Given the description of an element on the screen output the (x, y) to click on. 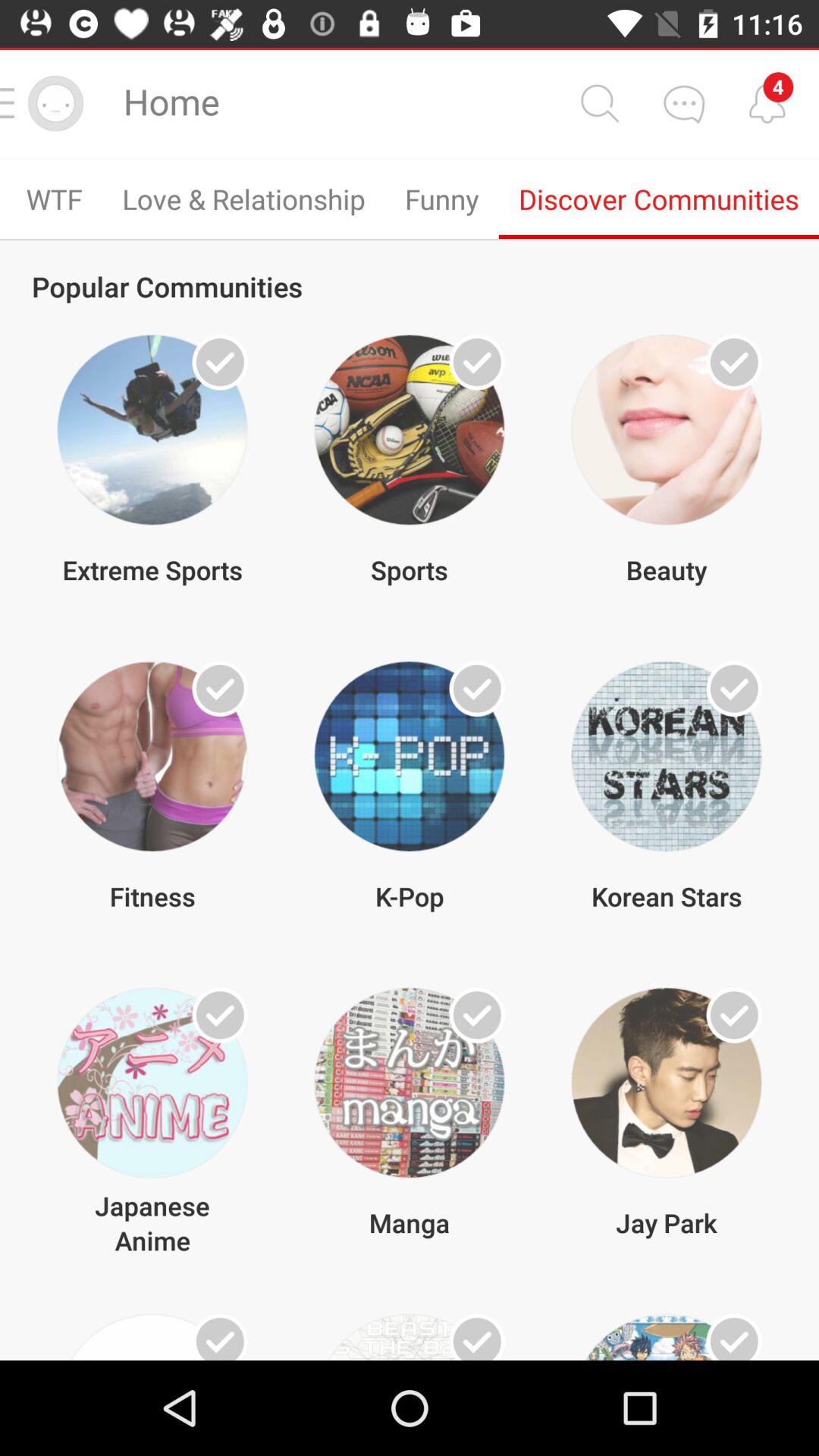
join community toggle (219, 688)
